Given the description of an element on the screen output the (x, y) to click on. 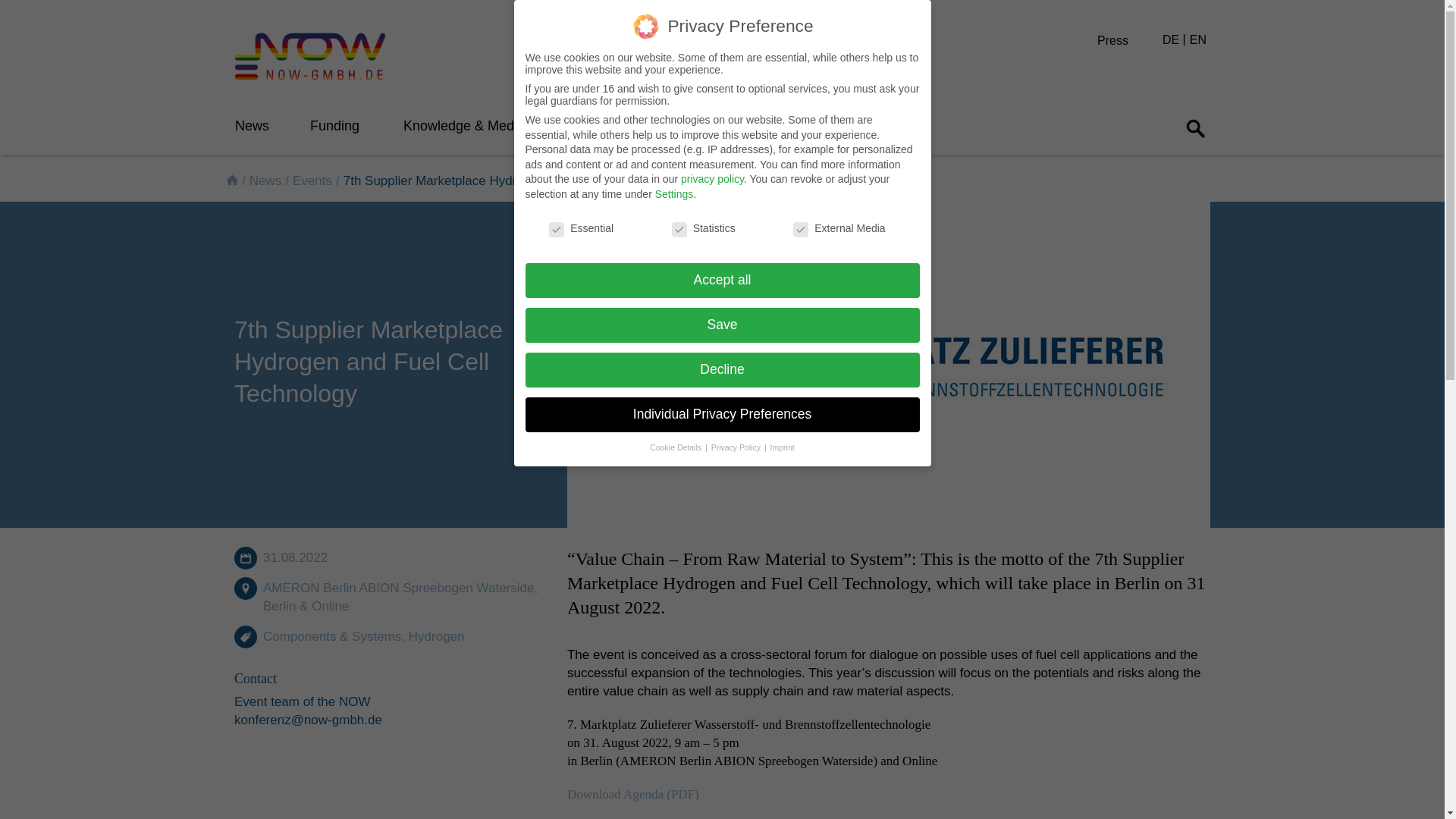
DE (1173, 39)
EN (1199, 39)
News (251, 126)
Funding (334, 126)
Press (1127, 40)
